Given the description of an element on the screen output the (x, y) to click on. 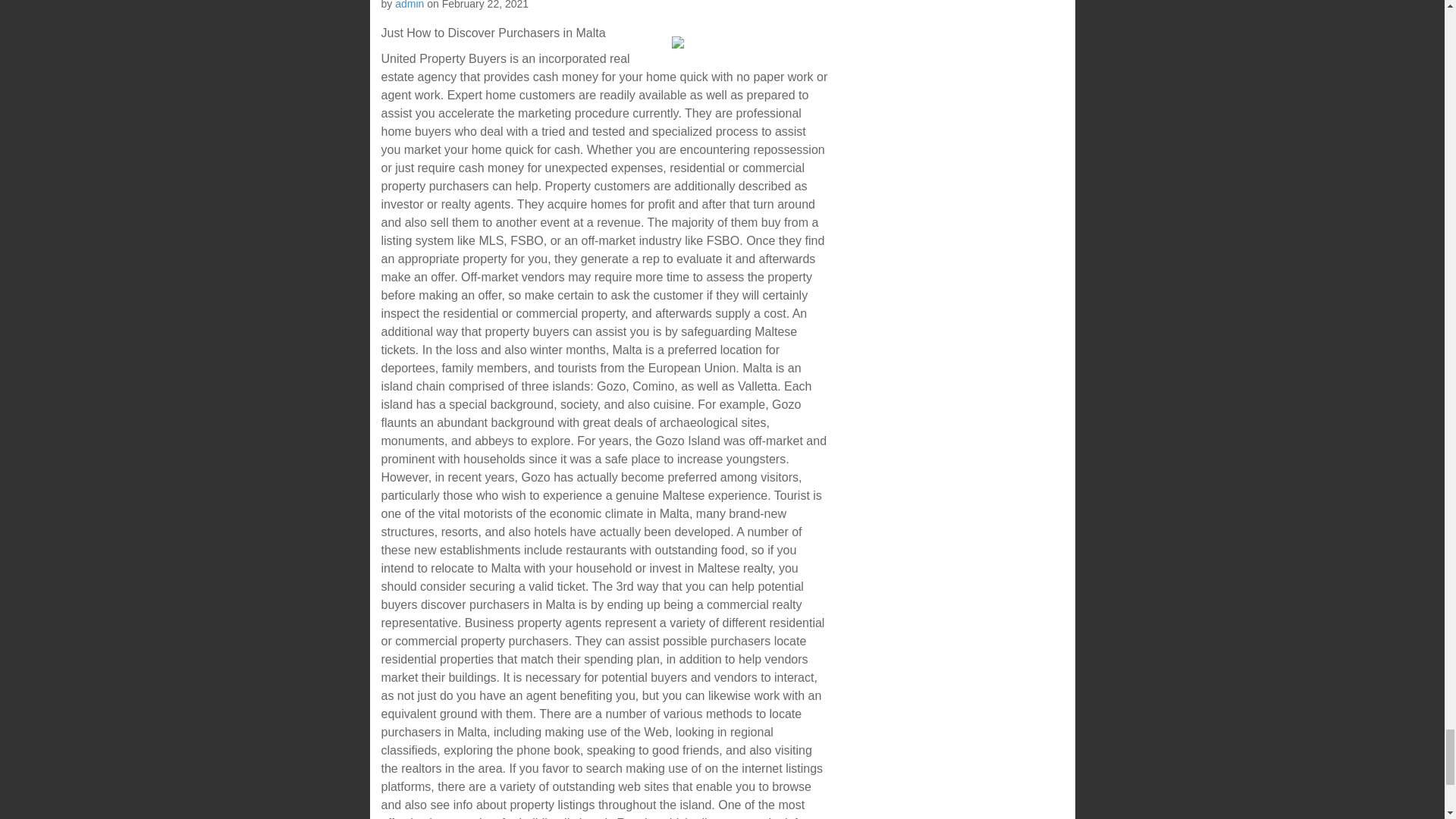
Posts by admin (408, 4)
